Given the description of an element on the screen output the (x, y) to click on. 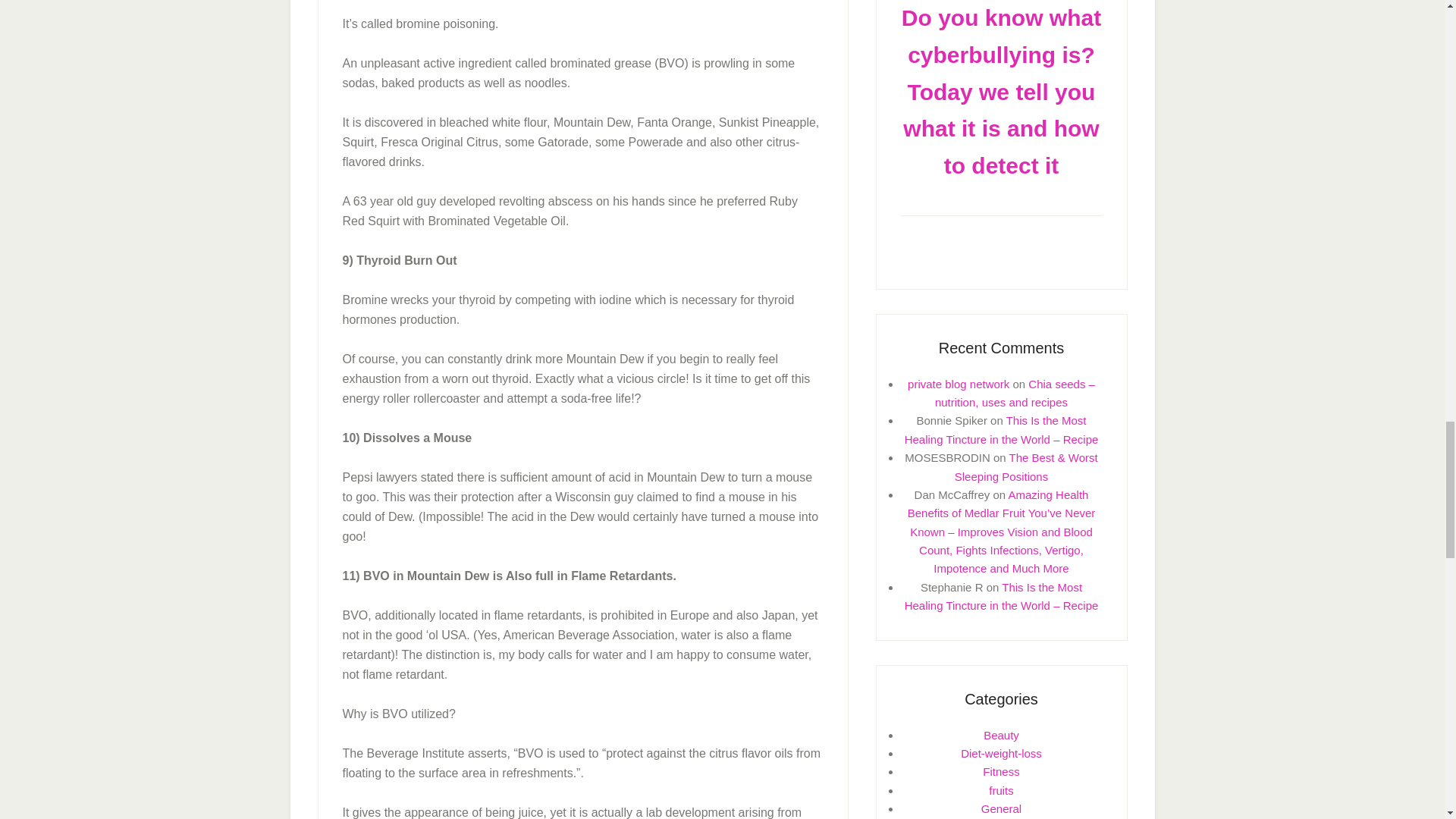
private blog network (958, 383)
Diet-weight-loss (1001, 753)
Beauty (1001, 735)
